Given the description of an element on the screen output the (x, y) to click on. 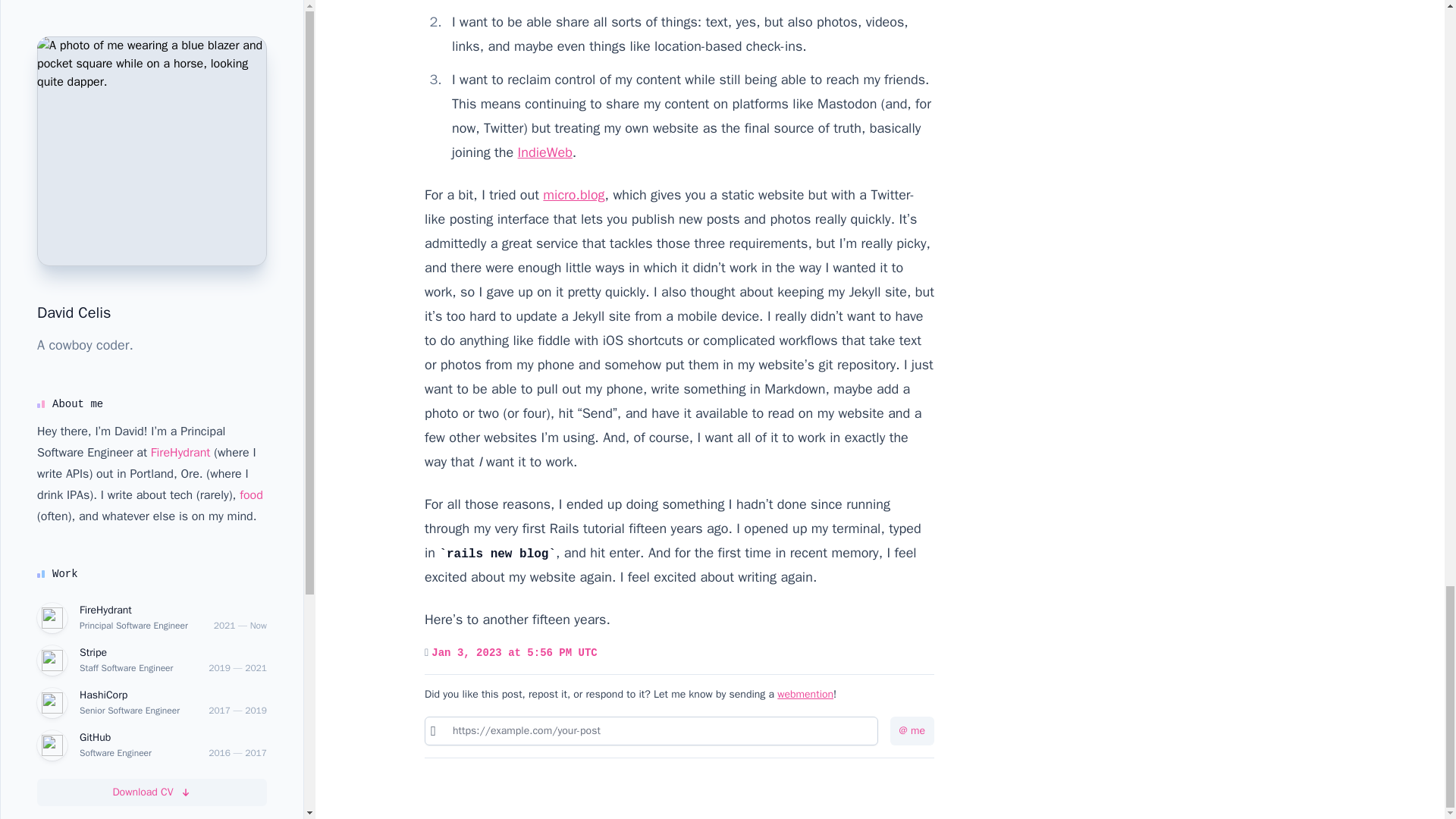
micro.blog (573, 194)
Jan 3, 2023 at 5:56 PM UTC (513, 652)
webmention (804, 694)
IndieWeb (545, 152)
